Given the description of an element on the screen output the (x, y) to click on. 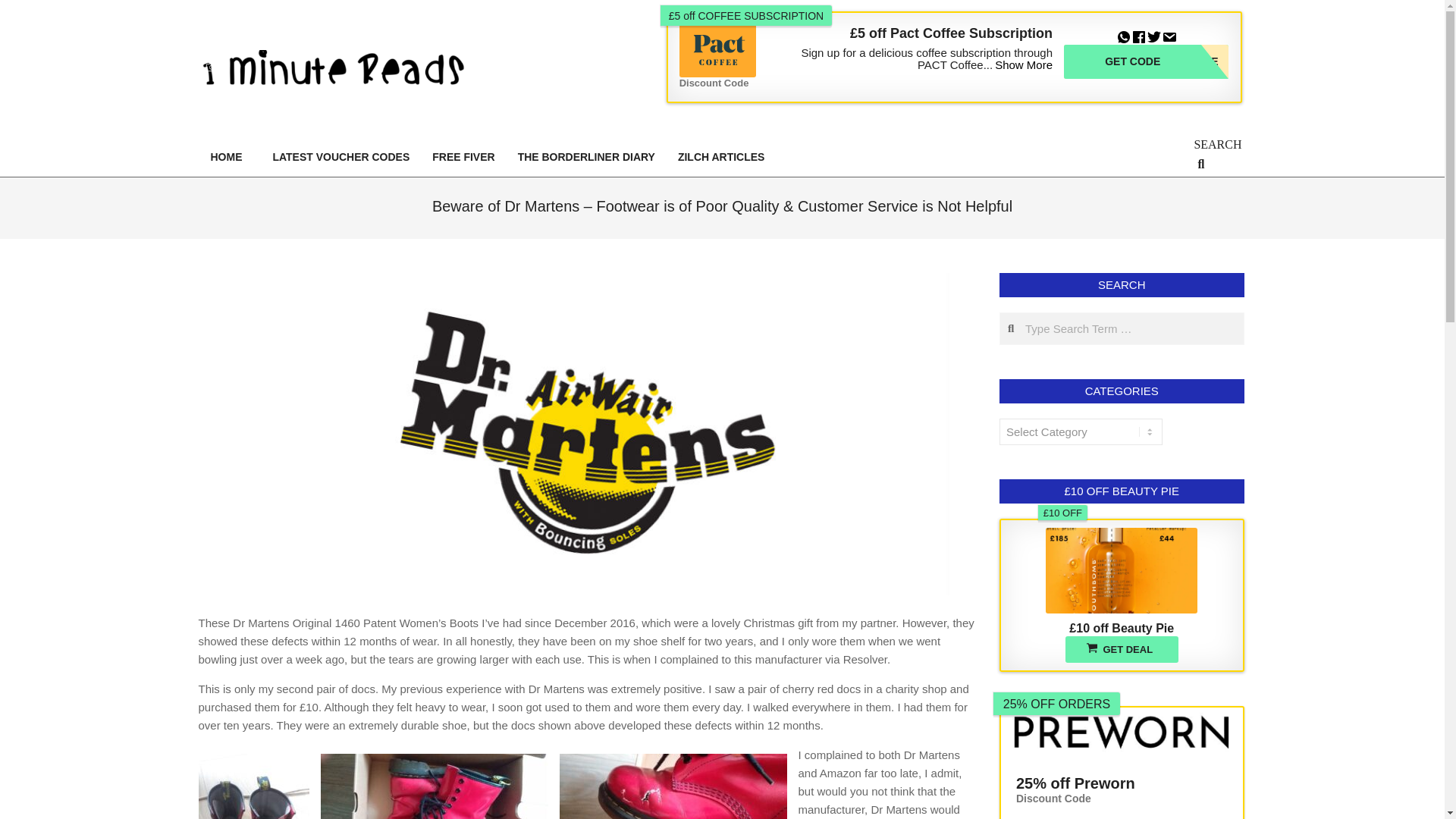
HOME (229, 156)
FREE FIVER (462, 156)
Share by facebook (1139, 34)
Share by whatsapp (1146, 61)
ZILCH ARTICLES (1123, 34)
THE BORDERLINER DIARY (721, 156)
Search (586, 156)
GET CODE (21, 8)
Share by twitter (1146, 61)
